Given the description of an element on the screen output the (x, y) to click on. 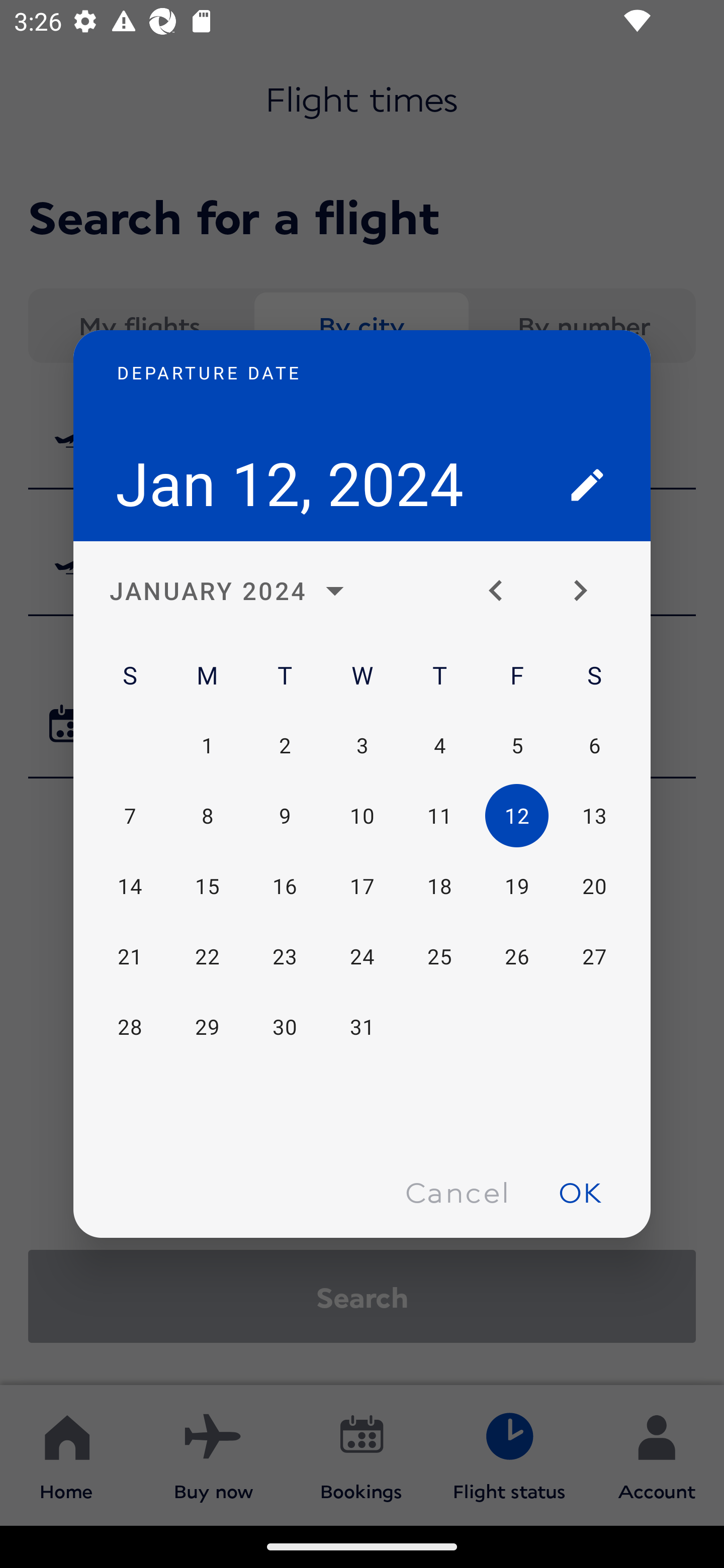
Switch to text input mode (587, 484)
JANUARY 2024 (231, 590)
Change to previous month (502, 590)
Change to next month (587, 590)
1 Mon, Jan 1 (207, 745)
2 Tue, Jan 2 (284, 745)
3 Wed, Jan 3 (361, 745)
4 Thu, Jan 4 (438, 745)
5 Fri, Jan 5 (516, 745)
6 Sat, Jan 6 (593, 745)
7 Sun, Jan 7 (129, 815)
8 Mon, Jan 8 (207, 815)
9 Tue, Jan 9 (284, 815)
10 Wed, Jan 10 (361, 815)
11 Thu, Jan 11 (438, 815)
12 Today Fri, Jan 12 (516, 815)
13 Sat, Jan 13 (593, 815)
14 Sun, Jan 14 (129, 886)
15 Mon, Jan 15 (207, 886)
16 Tue, Jan 16 (284, 886)
17 Wed, Jan 17 (361, 886)
18 Thu, Jan 18 (438, 886)
19 Fri, Jan 19 (516, 886)
20 Sat, Jan 20 (593, 886)
21 Sun, Jan 21 (129, 955)
22 Mon, Jan 22 (207, 955)
23 Tue, Jan 23 (284, 955)
24 Wed, Jan 24 (361, 955)
25 Thu, Jan 25 (438, 955)
26 Fri, Jan 26 (516, 955)
27 Sat, Jan 27 (593, 955)
28 Sun, Jan 28 (129, 1025)
29 Mon, Jan 29 (207, 1025)
30 Tue, Jan 30 (284, 1025)
31 Wed, Jan 31 (361, 1025)
Cancel (456, 1191)
OK null, OK (580, 1191)
